Given the description of an element on the screen output the (x, y) to click on. 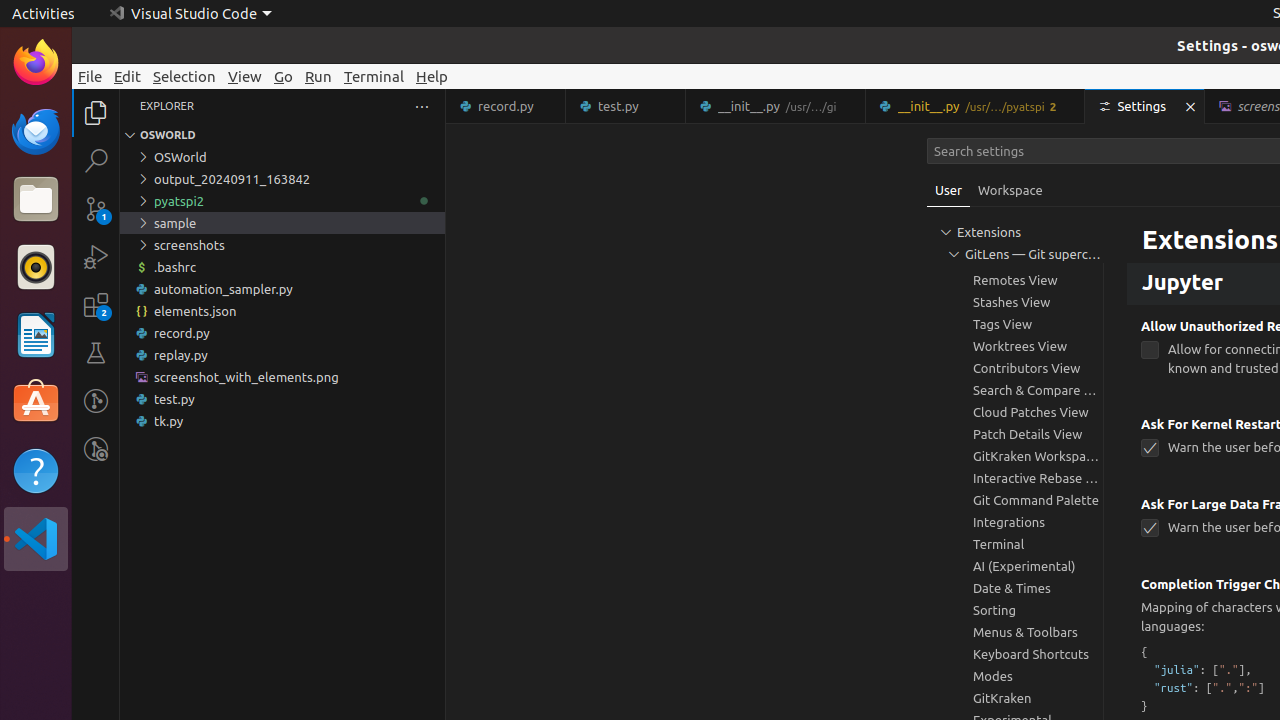
screenshots Element type: tree-item (282, 245)
Branches View, group Element type: tree-item (1015, 258)
User Element type: check-box (949, 190)
Modes, group Element type: tree-item (1015, 676)
Stashes View, group Element type: tree-item (1015, 302)
